Given the description of an element on the screen output the (x, y) to click on. 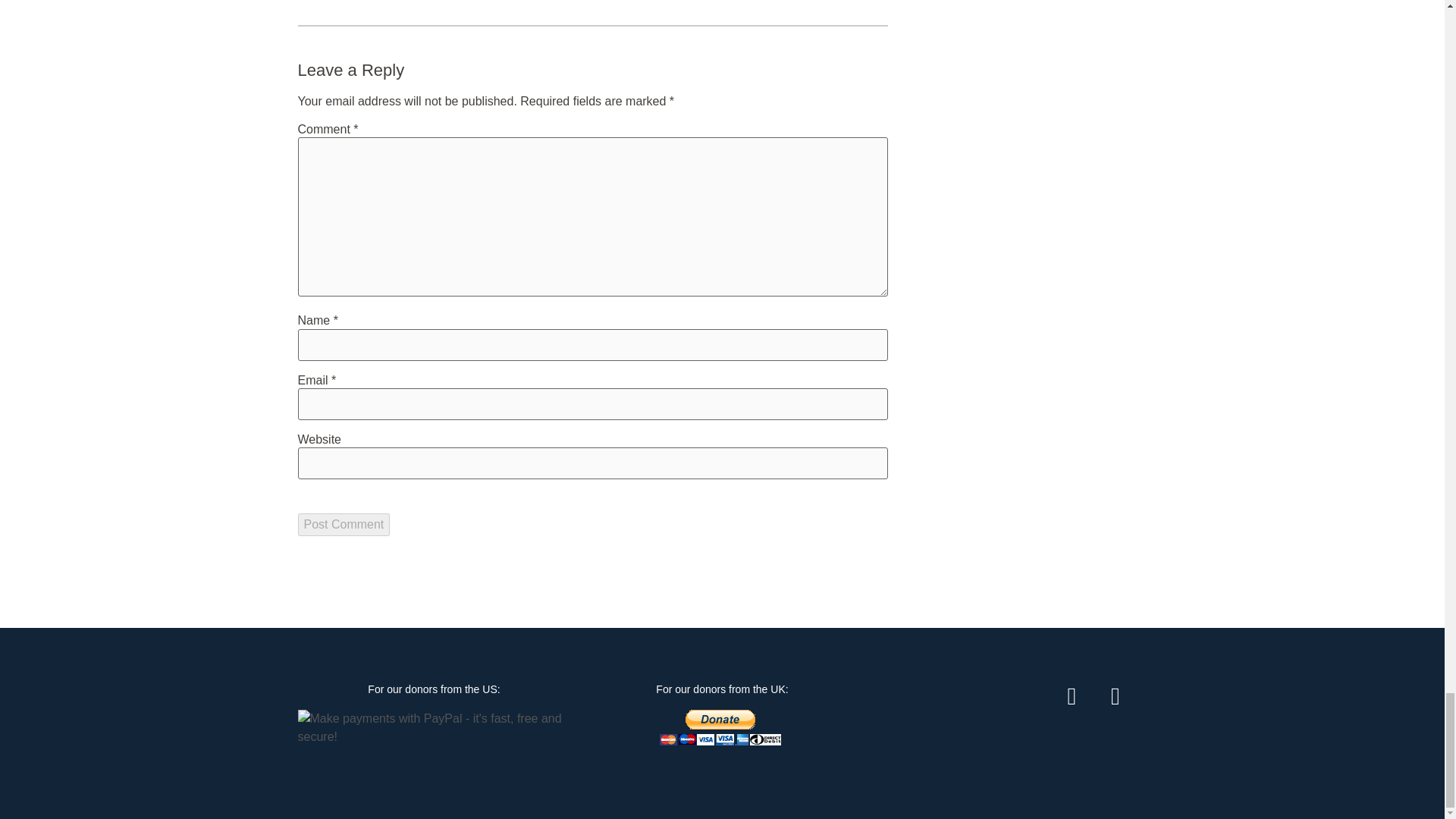
Post Comment (343, 524)
